Given the description of an element on the screen output the (x, y) to click on. 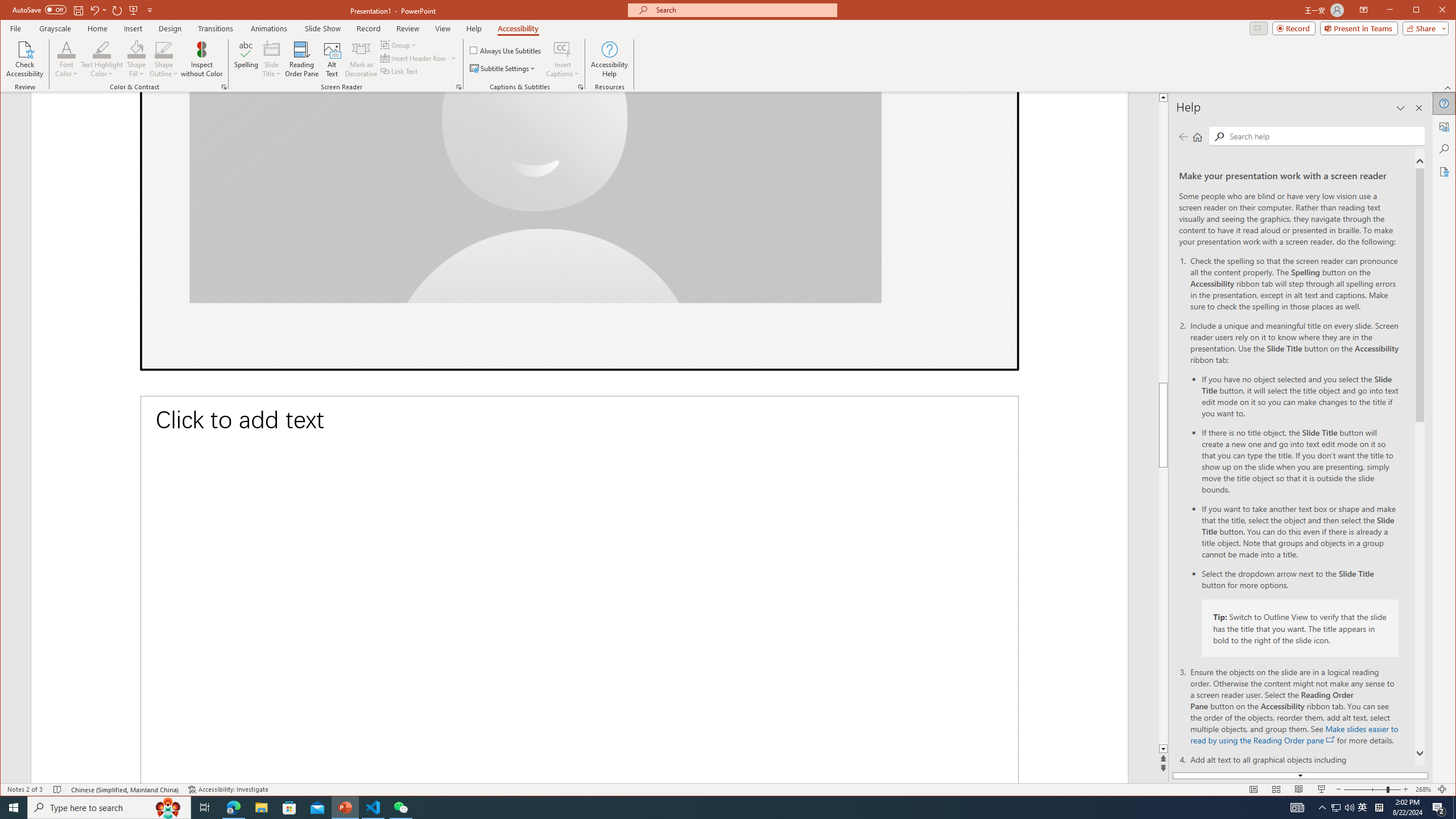
Screen Reader (458, 86)
